Given the description of an element on the screen output the (x, y) to click on. 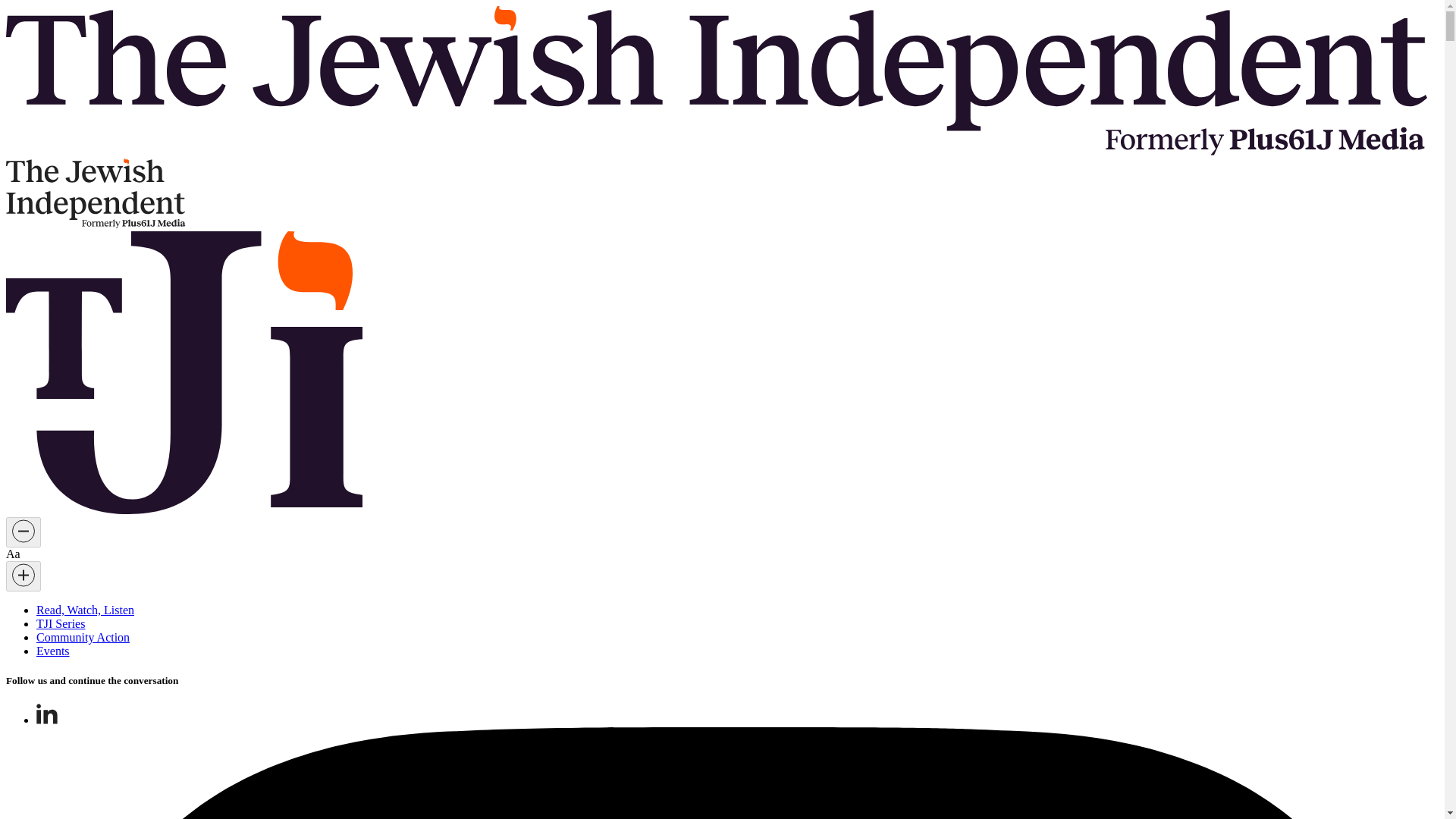
Increase text size (22, 576)
TJI Series (60, 623)
Decrease text size (22, 531)
Read, Watch, Listen (84, 609)
Community Action (82, 636)
LinkedIn (47, 713)
LinkedIn (47, 719)
Events (52, 650)
